Given the description of an element on the screen output the (x, y) to click on. 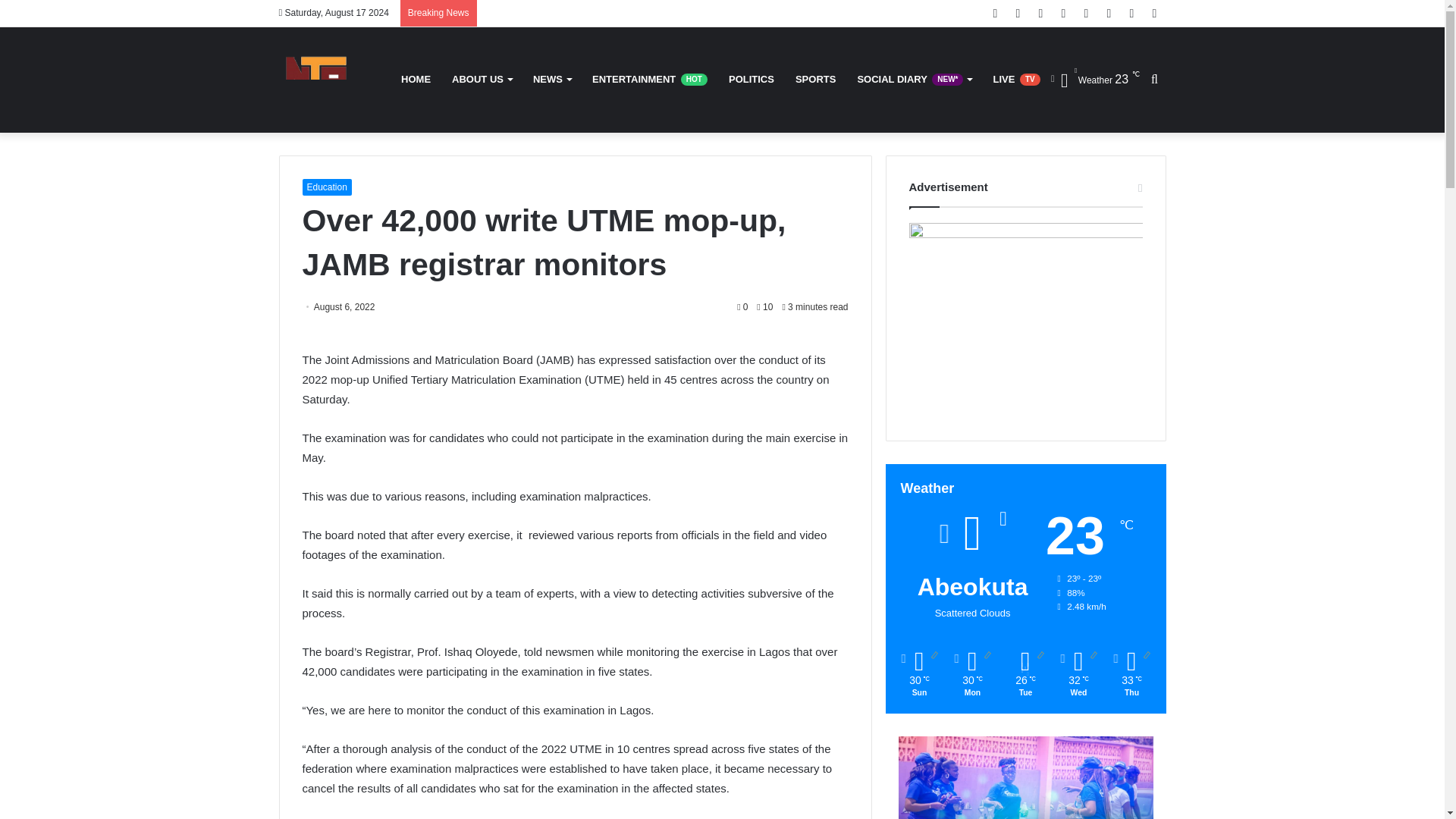
NTA Abeokuta (317, 79)
ENTERTAINMENT HOT (648, 79)
Scattered Clouds (1095, 78)
Education (325, 187)
